Given the description of an element on the screen output the (x, y) to click on. 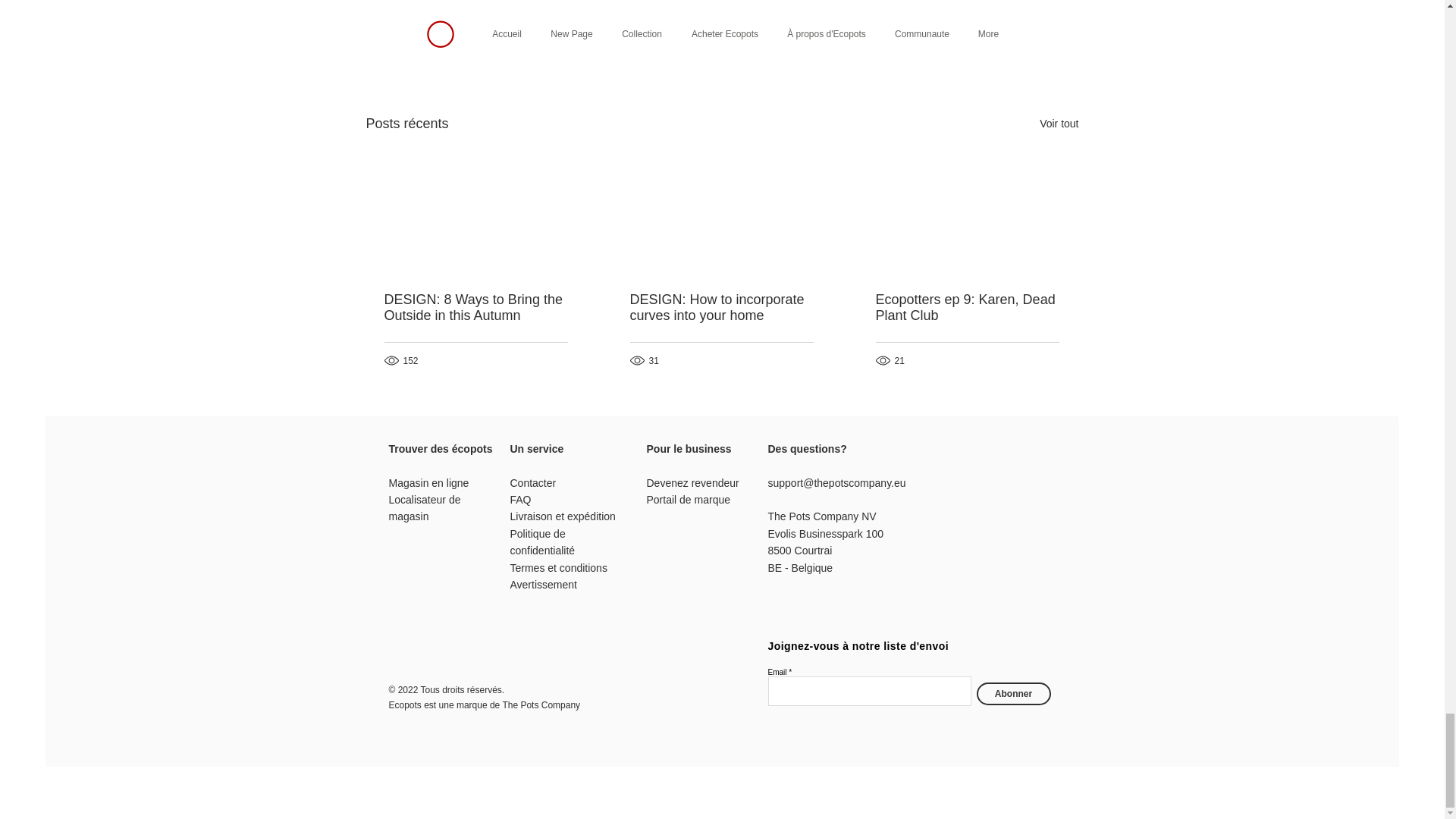
Voir tout (1058, 124)
Localisateur de magasin (424, 507)
Magasin en ligne (428, 482)
DESIGN: 8 Ways to Bring the Outside in this Autumn (475, 307)
Contacter (532, 482)
Ecopotters ep 9: Karen, Dead Plant Club (966, 307)
DESIGN: How to incorporate curves into your home (720, 307)
FAQ (520, 499)
